Given the description of an element on the screen output the (x, y) to click on. 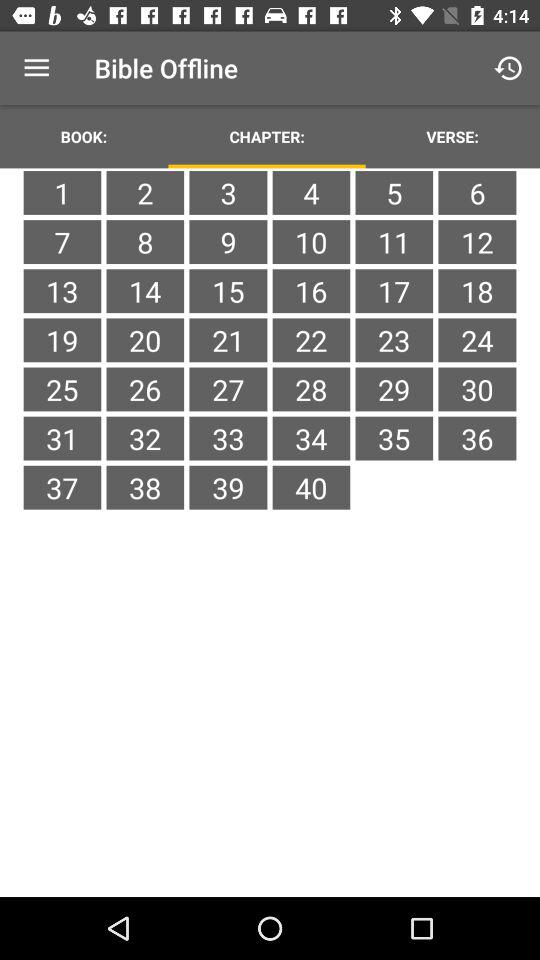
select 16 item (311, 291)
